Given the description of an element on the screen output the (x, y) to click on. 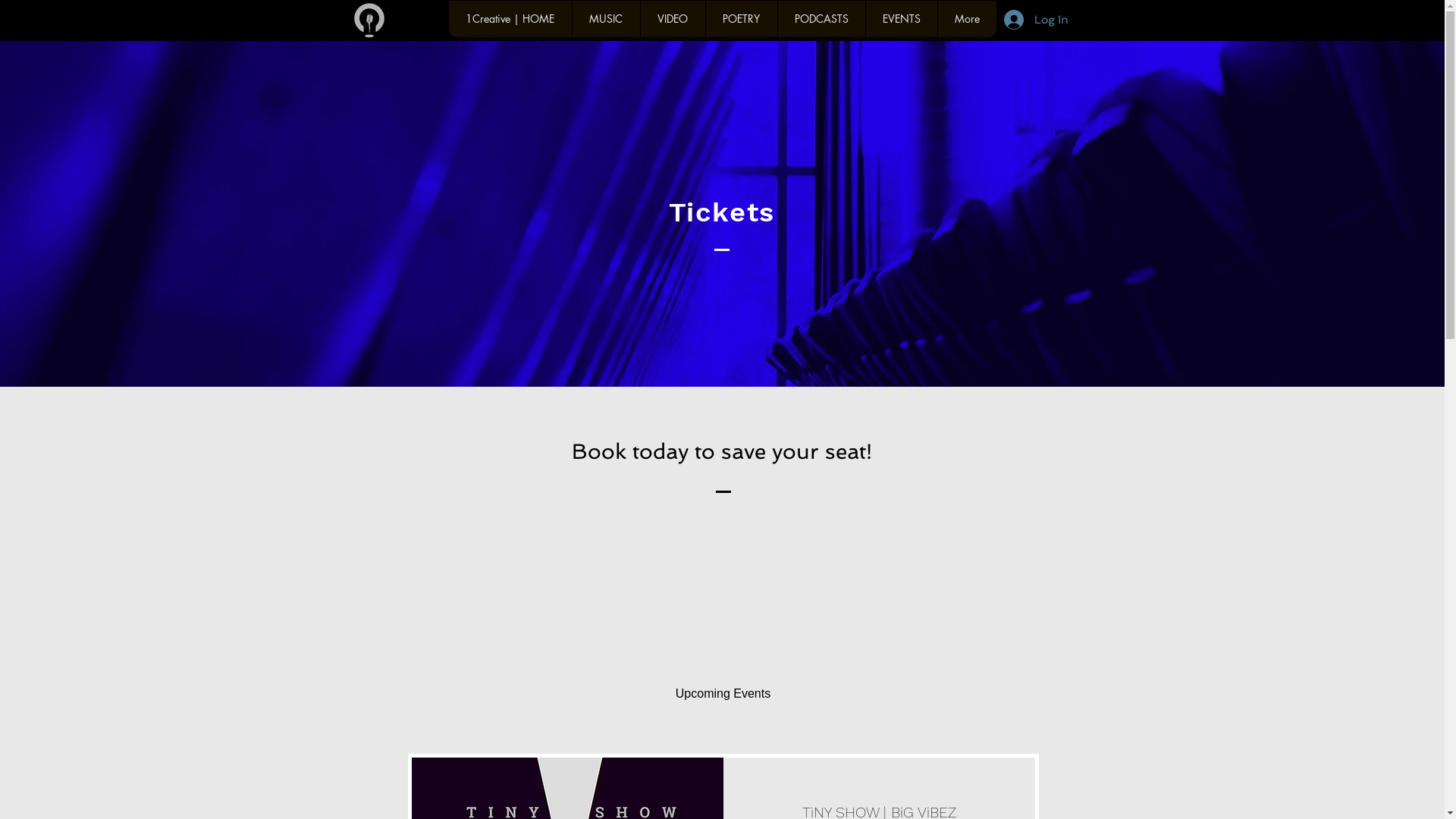
PODCASTS Element type: text (820, 18)
Log In Element type: text (1036, 19)
VIDEO Element type: text (672, 18)
1Creative | HOME Element type: text (509, 18)
MUSIC Element type: text (605, 18)
EVENTS Element type: text (900, 18)
POETRY Element type: text (741, 18)
